Given the description of an element on the screen output the (x, y) to click on. 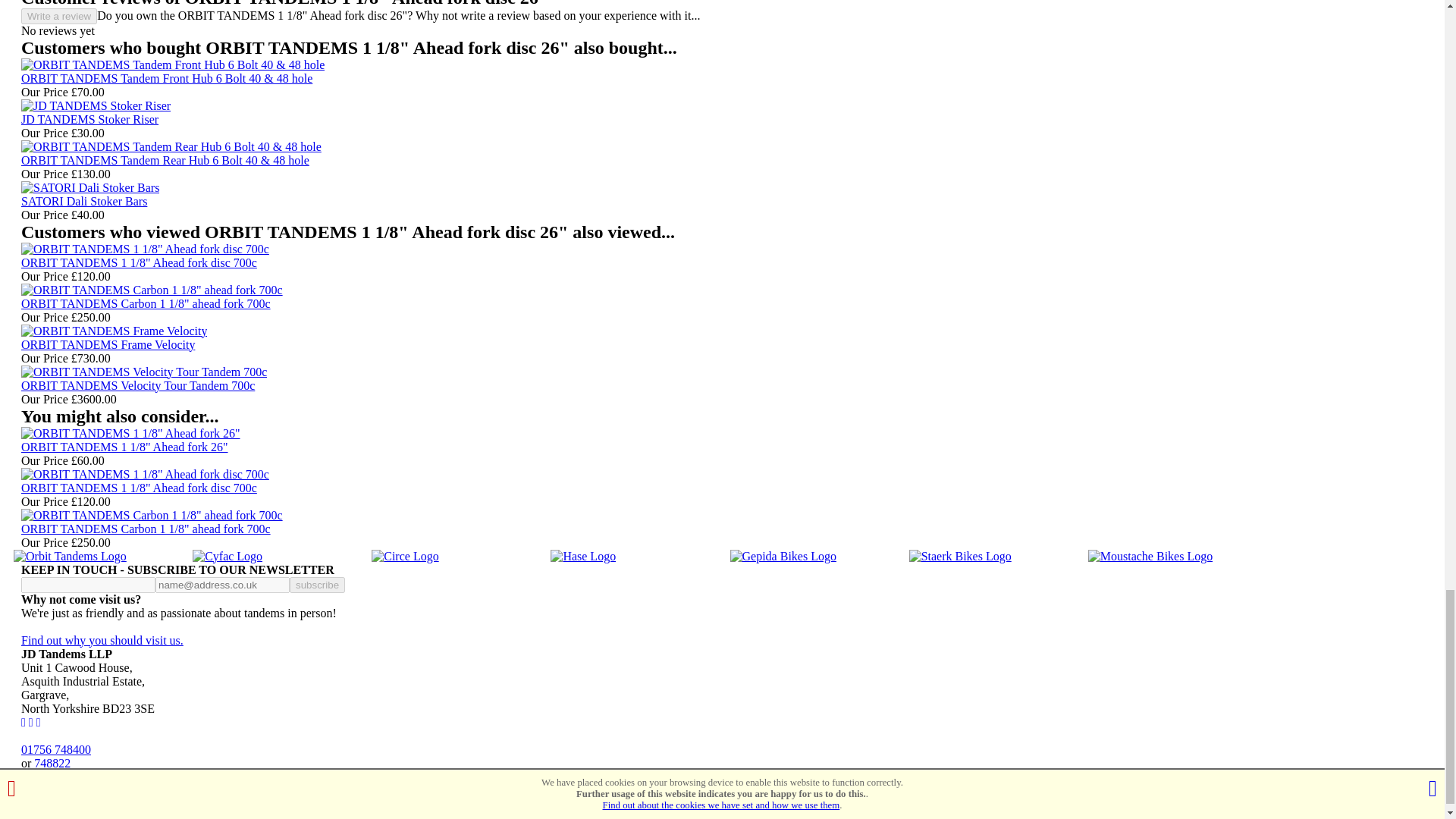
Write a review (59, 16)
subscribe (317, 584)
